Given the description of an element on the screen output the (x, y) to click on. 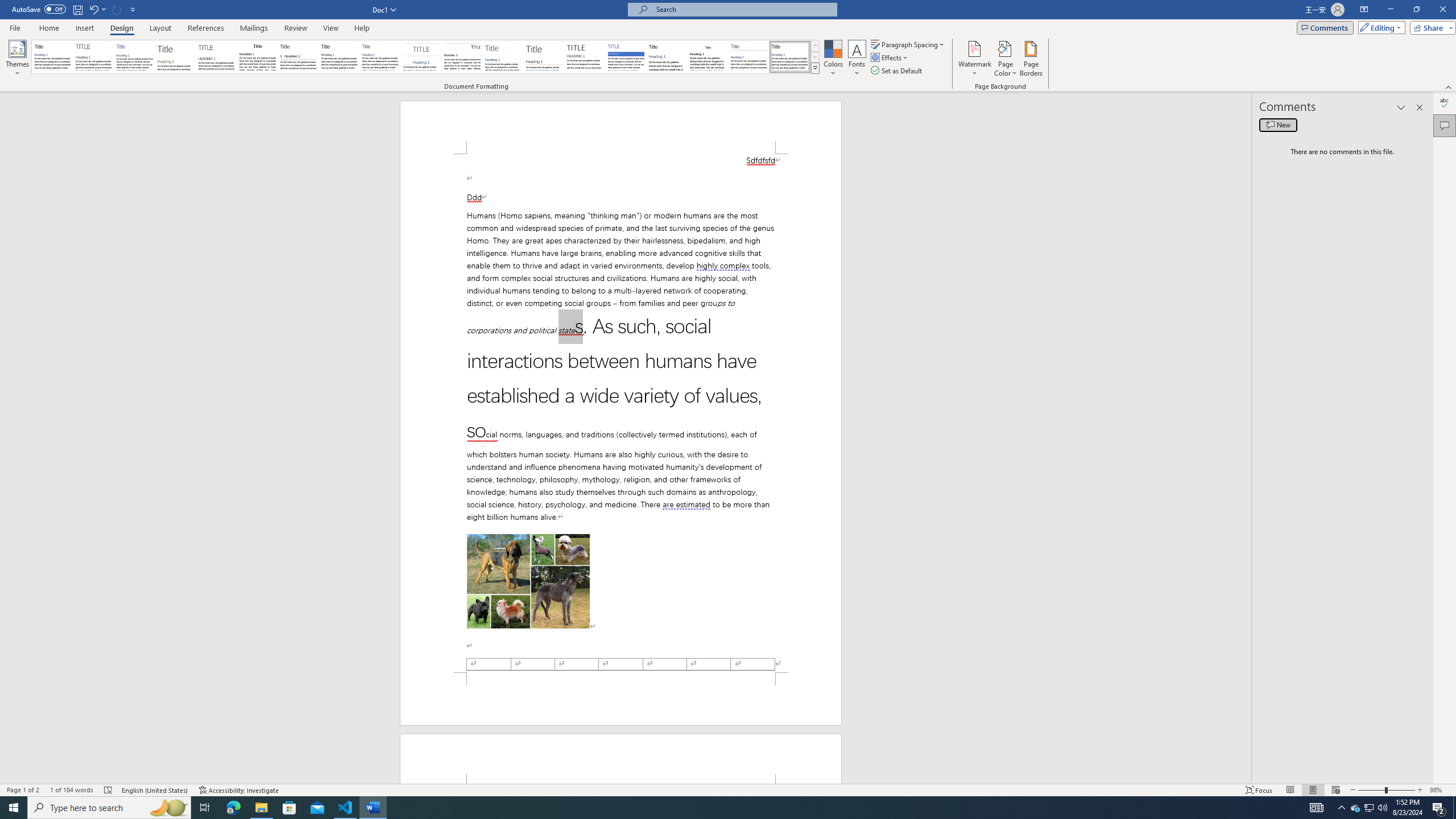
Morphological variation in six dogs (528, 580)
Lines (Simple) (503, 56)
Undo Apply Quick Style Set (92, 9)
